Given the description of an element on the screen output the (x, y) to click on. 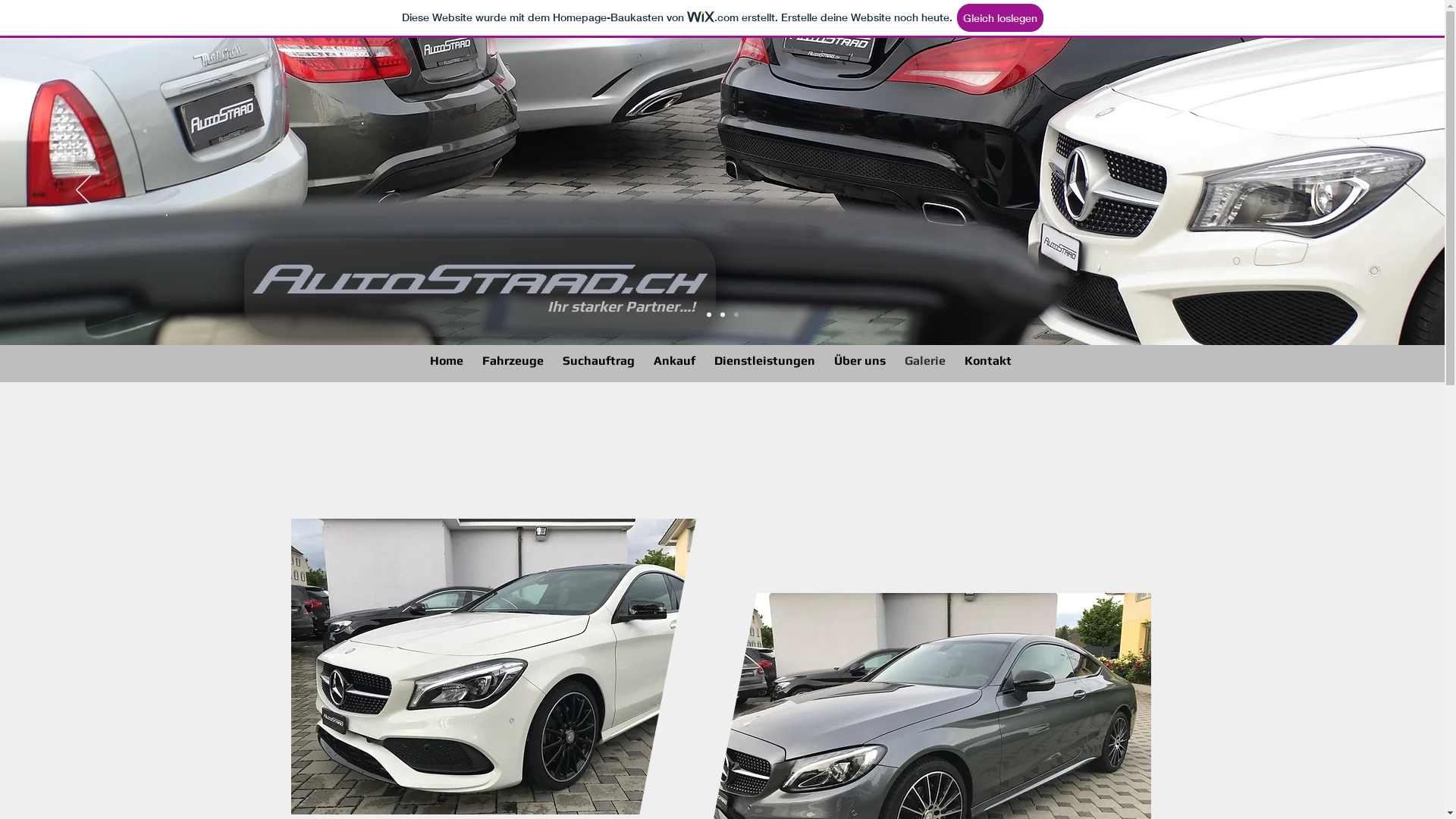
Ankauf Element type: text (674, 360)
Suchauftrag Element type: text (598, 360)
Home Element type: text (446, 360)
Kontakt Element type: text (988, 360)
Galerie Element type: text (924, 360)
Dienstleistungen Element type: text (765, 360)
Fahrzeuge Element type: text (513, 360)
